Given the description of an element on the screen output the (x, y) to click on. 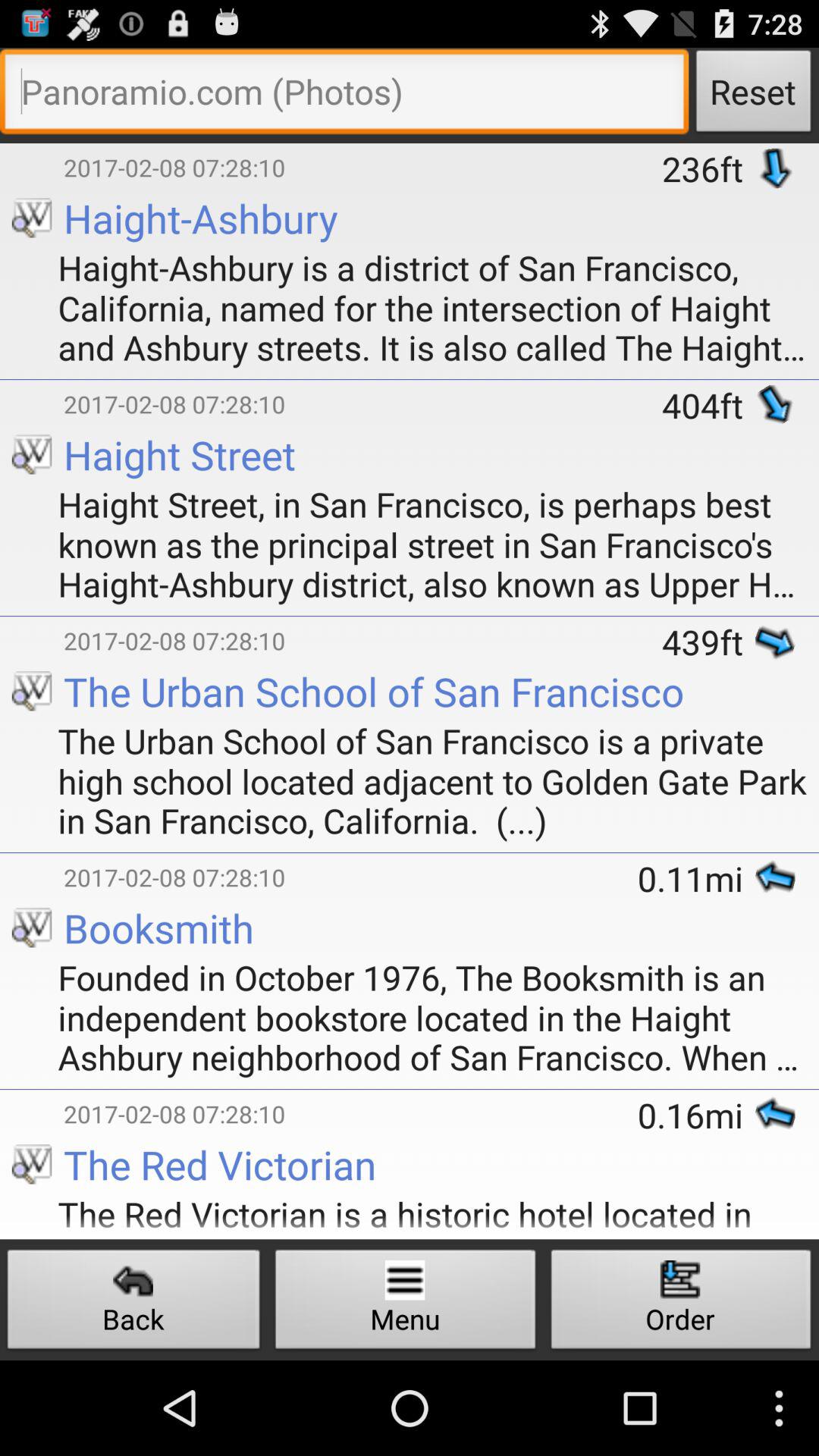
select the item next to the urban school app (31, 855)
